Given the description of an element on the screen output the (x, y) to click on. 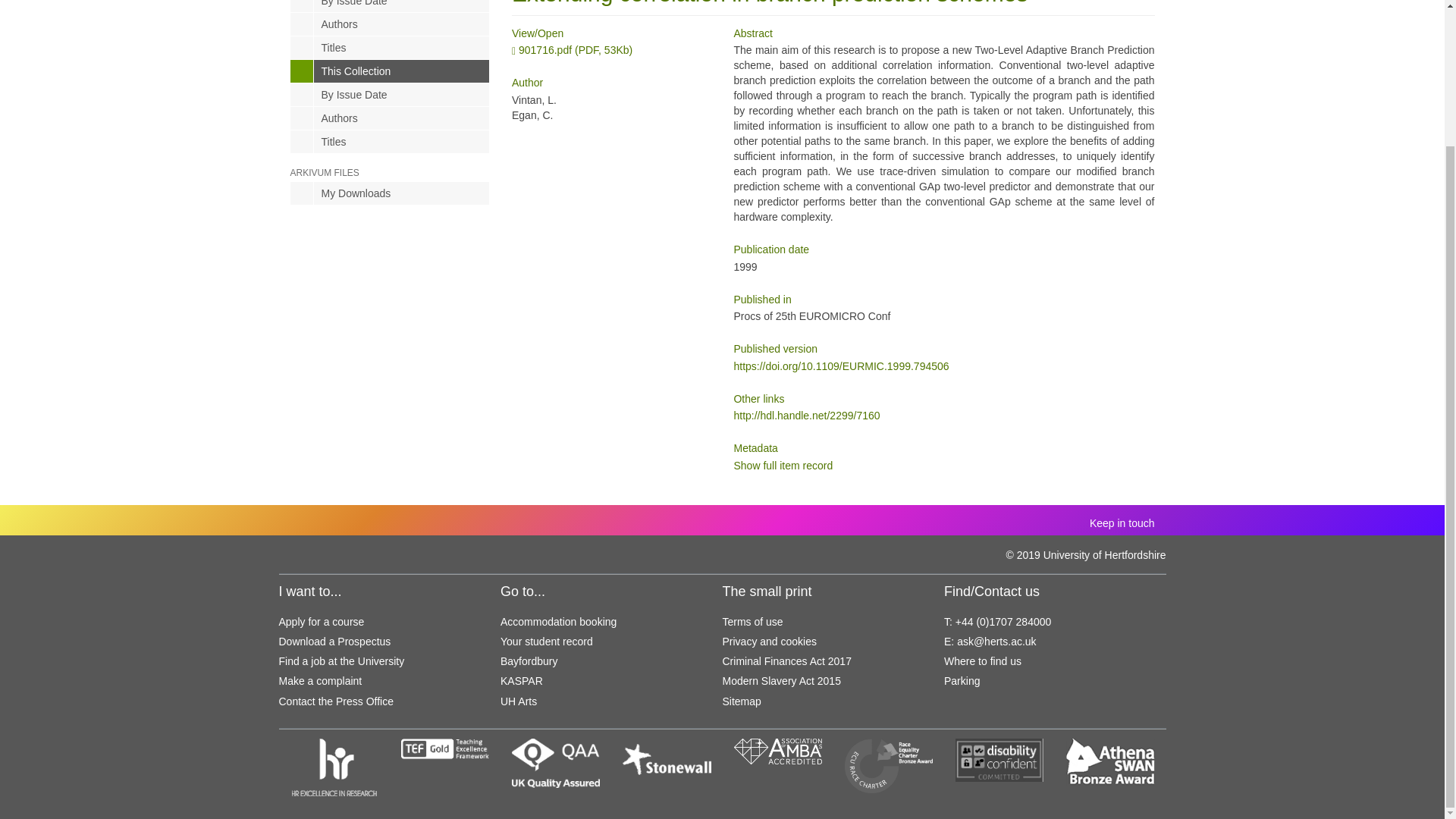
By Issue Date (389, 6)
Sitemap (741, 701)
Your student record (546, 641)
Terms of use (752, 621)
Modern Slavery Act 2015 (781, 680)
Show full item record (782, 465)
Contact the Press Office (336, 701)
Accommodation booking (557, 621)
Apply for a course (322, 621)
Titles (389, 47)
Privacy and cookies (769, 641)
Authors (389, 24)
This Collection (389, 70)
Criminal Finances Act 2017 (786, 661)
My Downloads (389, 192)
